Given the description of an element on the screen output the (x, y) to click on. 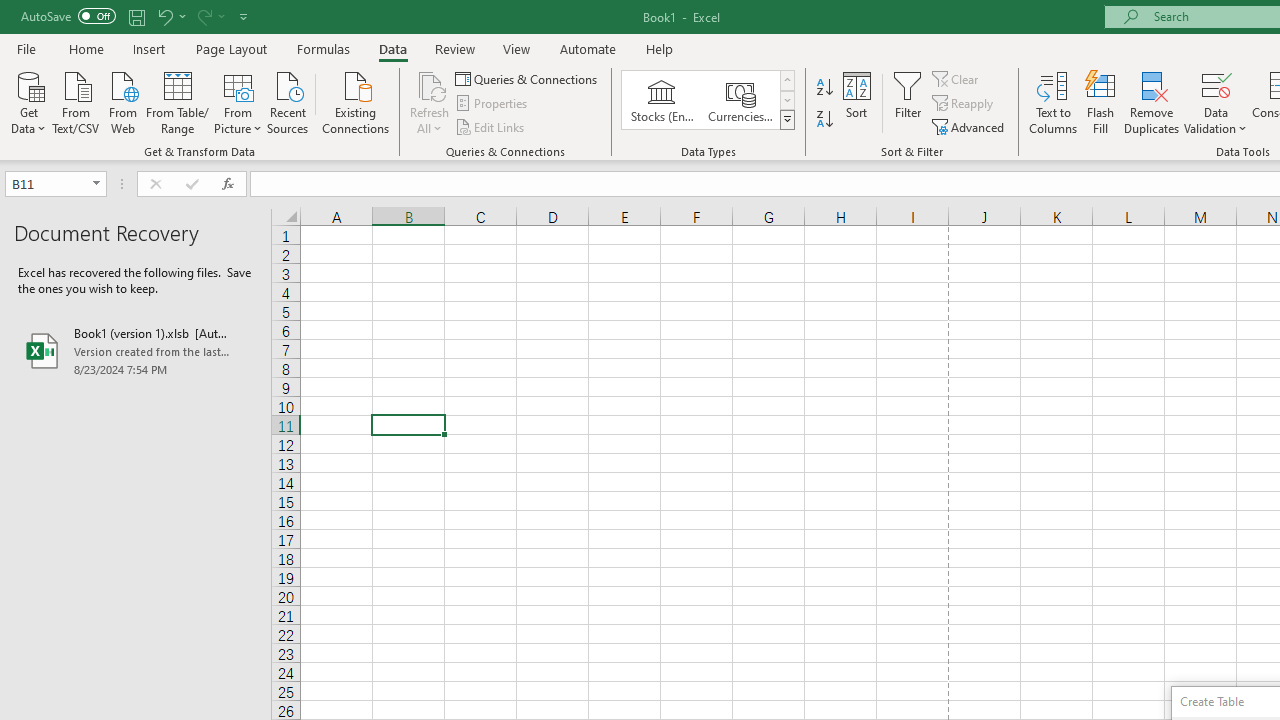
Currencies (English) (740, 100)
AutomationID: ConvertToLinkedEntity (708, 99)
Flash Fill (1101, 102)
Properties (492, 103)
Existing Connections (355, 101)
From Text/CSV (75, 101)
Sort A to Z (824, 87)
